Given the description of an element on the screen output the (x, y) to click on. 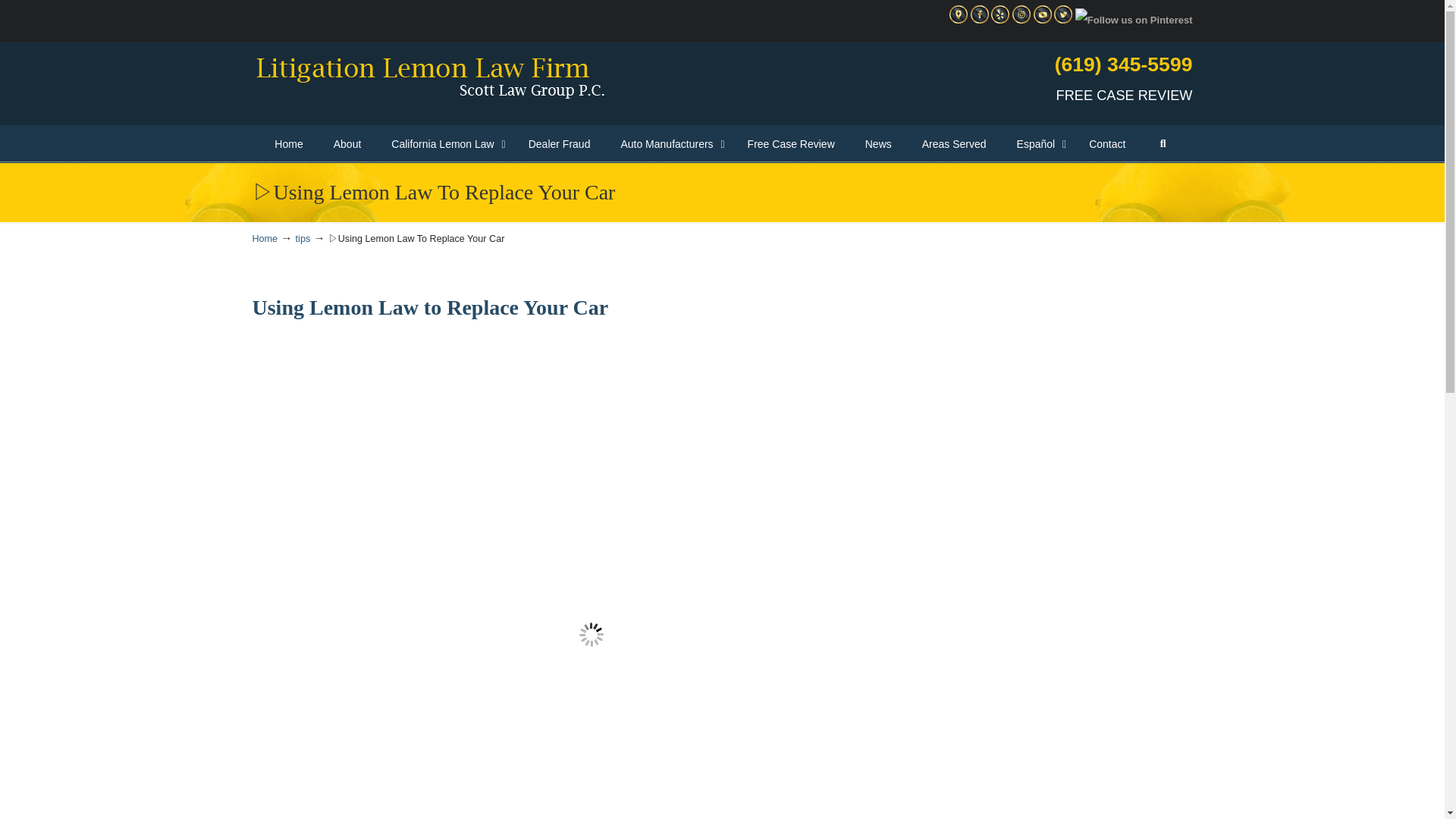
Dealer Fraud (559, 144)
Facebook (979, 13)
Twitter (1062, 19)
About (347, 144)
Yelp (1000, 19)
Auto Manufacturers (668, 144)
Google Maps (958, 13)
Instagram (1020, 19)
Facebook (979, 19)
Pinterest (1133, 19)
Twitter (1062, 13)
Instagram (1020, 13)
YouTube (1042, 19)
YouTube (1042, 13)
Home (288, 144)
